Given the description of an element on the screen output the (x, y) to click on. 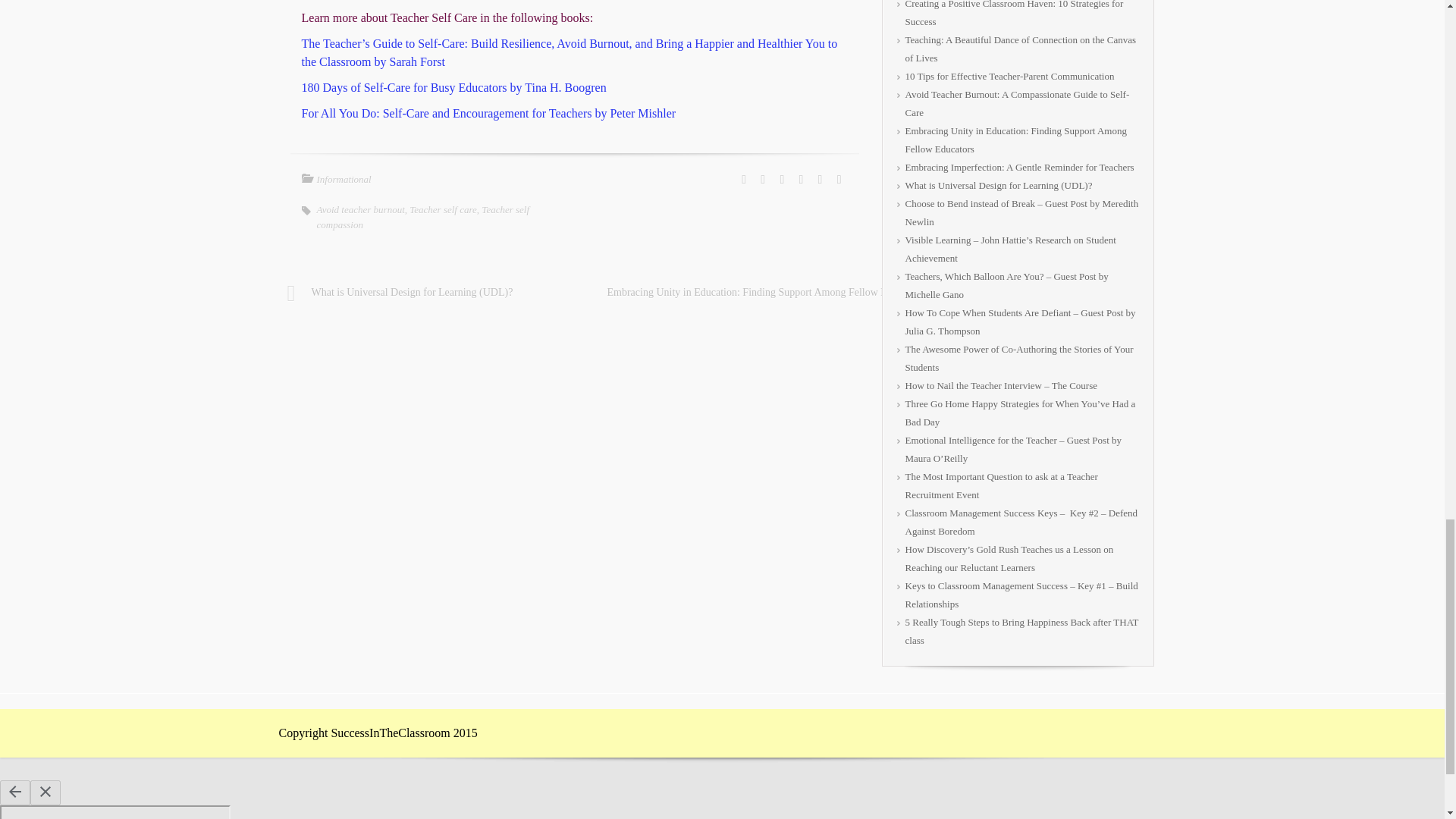
180 Days of Self-Care for Busy Educators by Tina H. Boogren (454, 87)
Teacher self care (443, 209)
Avoid teacher burnout (360, 209)
Informational (344, 179)
